Given the description of an element on the screen output the (x, y) to click on. 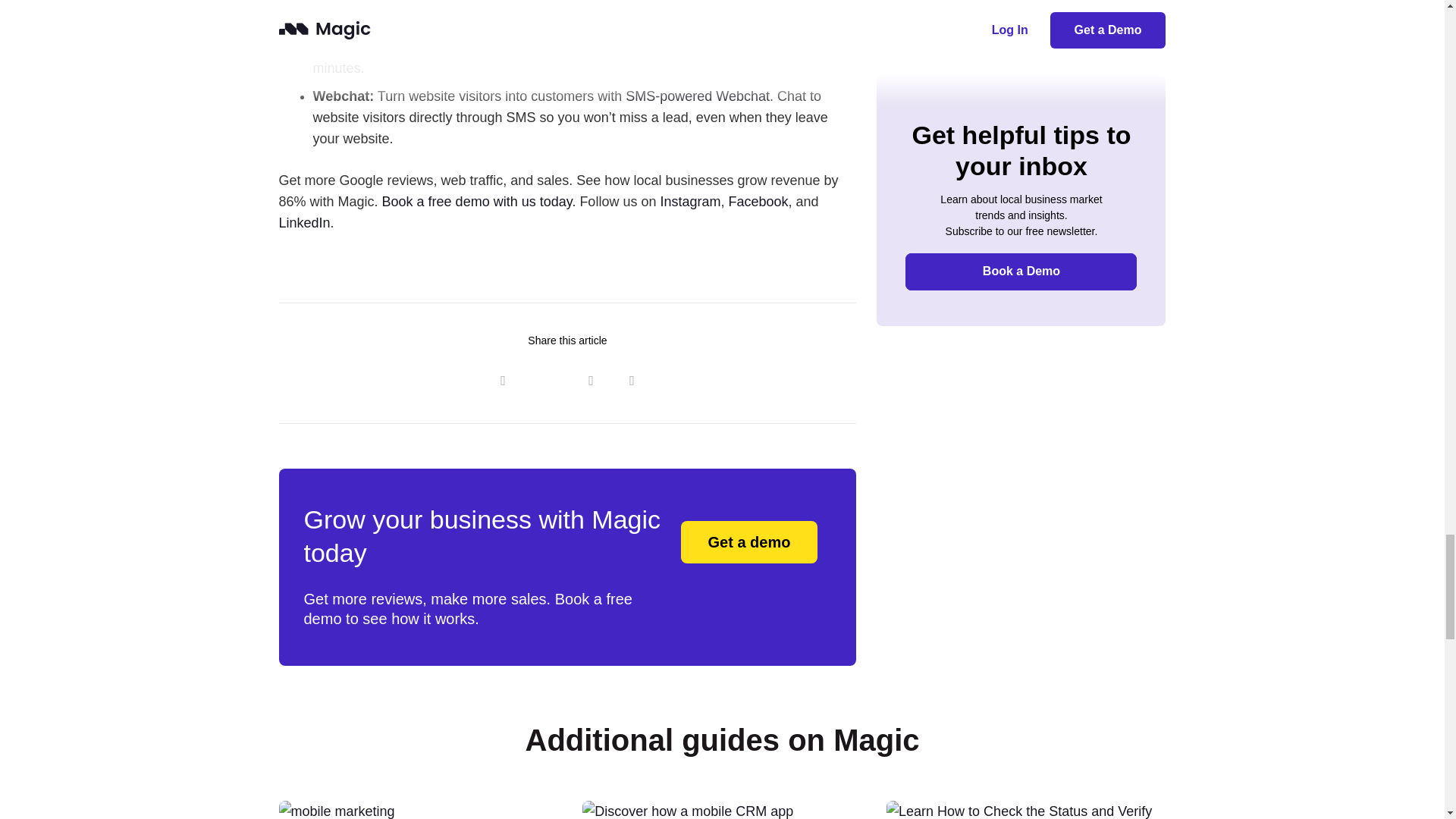
Get a demo (749, 541)
Book a Demo (749, 541)
Share this (590, 379)
SMS-powered Webchat (698, 96)
Share this (631, 379)
Tweet this (543, 379)
LinkedIn (304, 222)
Book a free demo with us today (476, 201)
Facebook (757, 201)
Share this (501, 379)
